Given the description of an element on the screen output the (x, y) to click on. 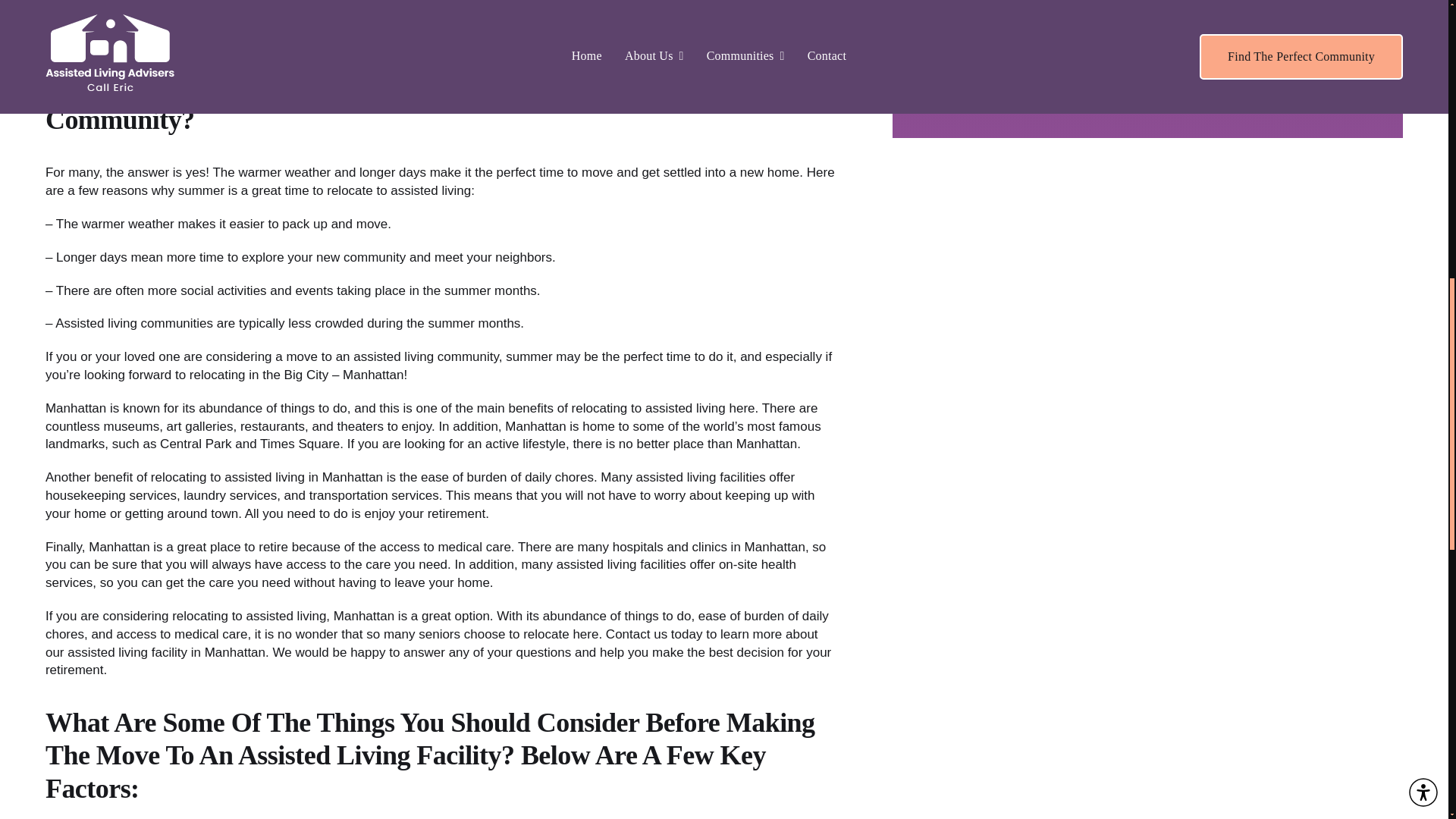
Vimeo video player 1 (1148, 46)
